Given the description of an element on the screen output the (x, y) to click on. 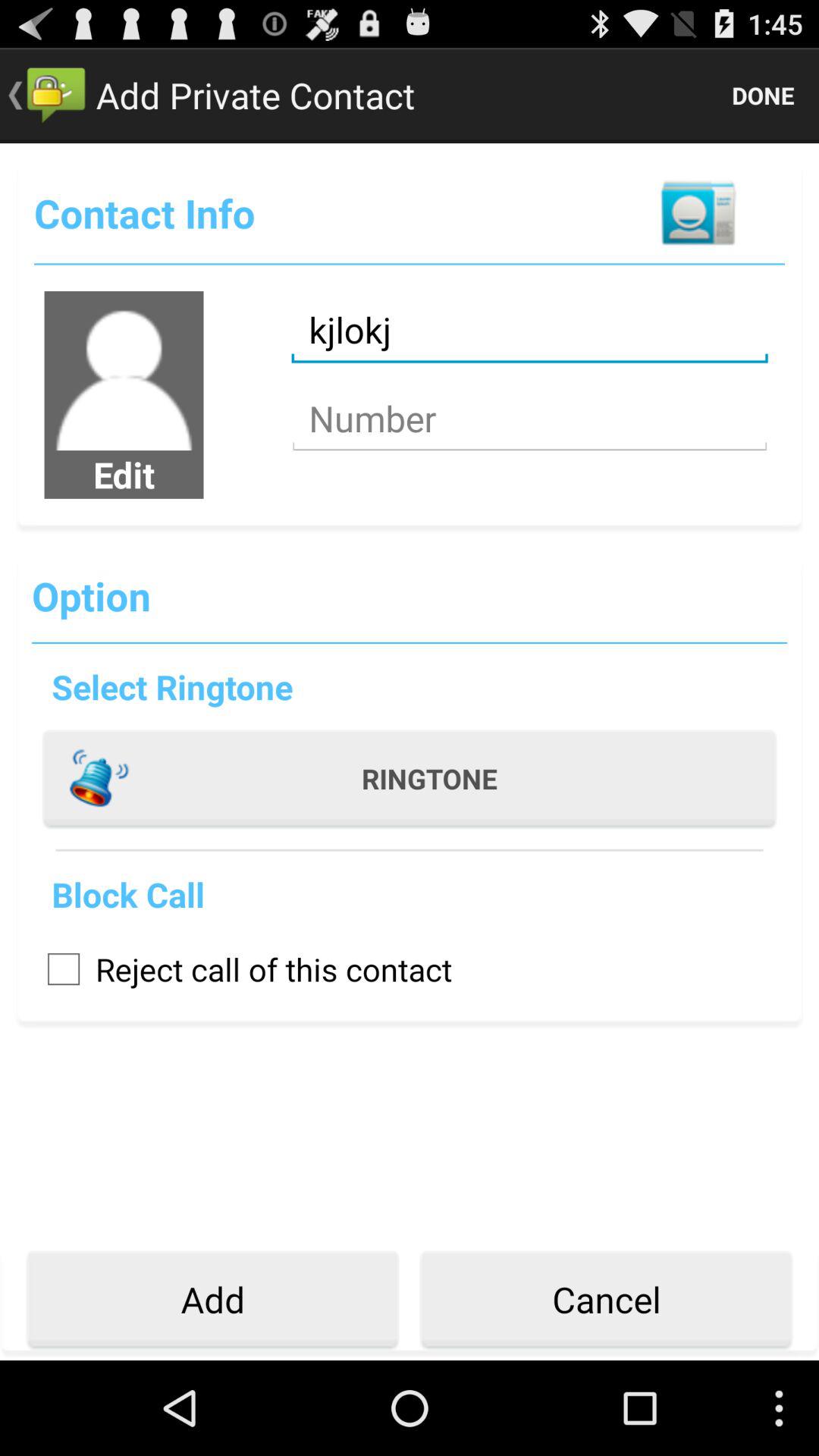
press the item above edit app (123, 370)
